Given the description of an element on the screen output the (x, y) to click on. 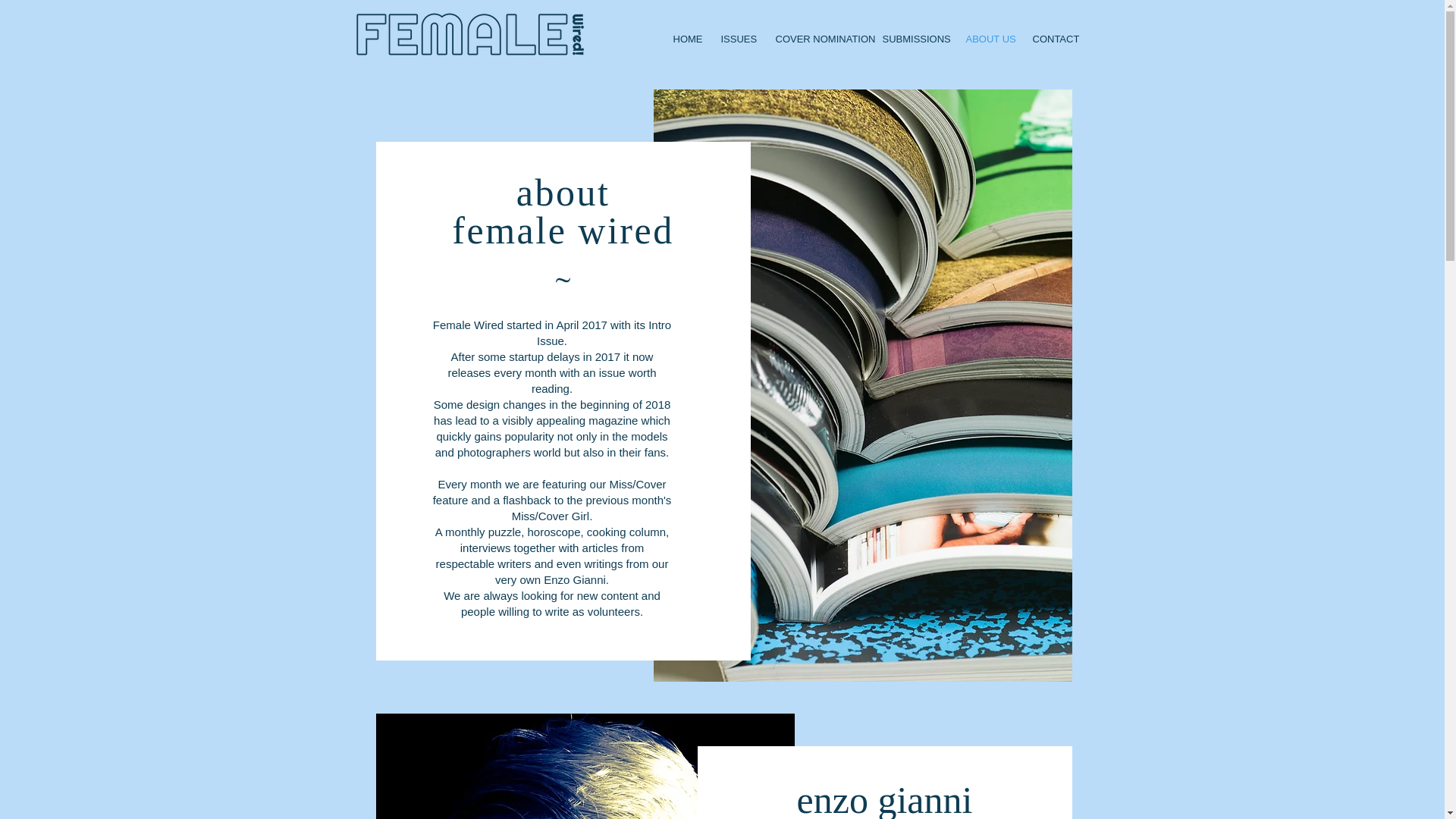
ABOUT US (986, 39)
ISSUES (737, 39)
COVER NOMINATION (817, 39)
Facebook Like (1040, 15)
CONTACT (1050, 39)
Twitter Tweet (984, 15)
HOME (685, 39)
SUBMISSIONS (911, 39)
